Given the description of an element on the screen output the (x, y) to click on. 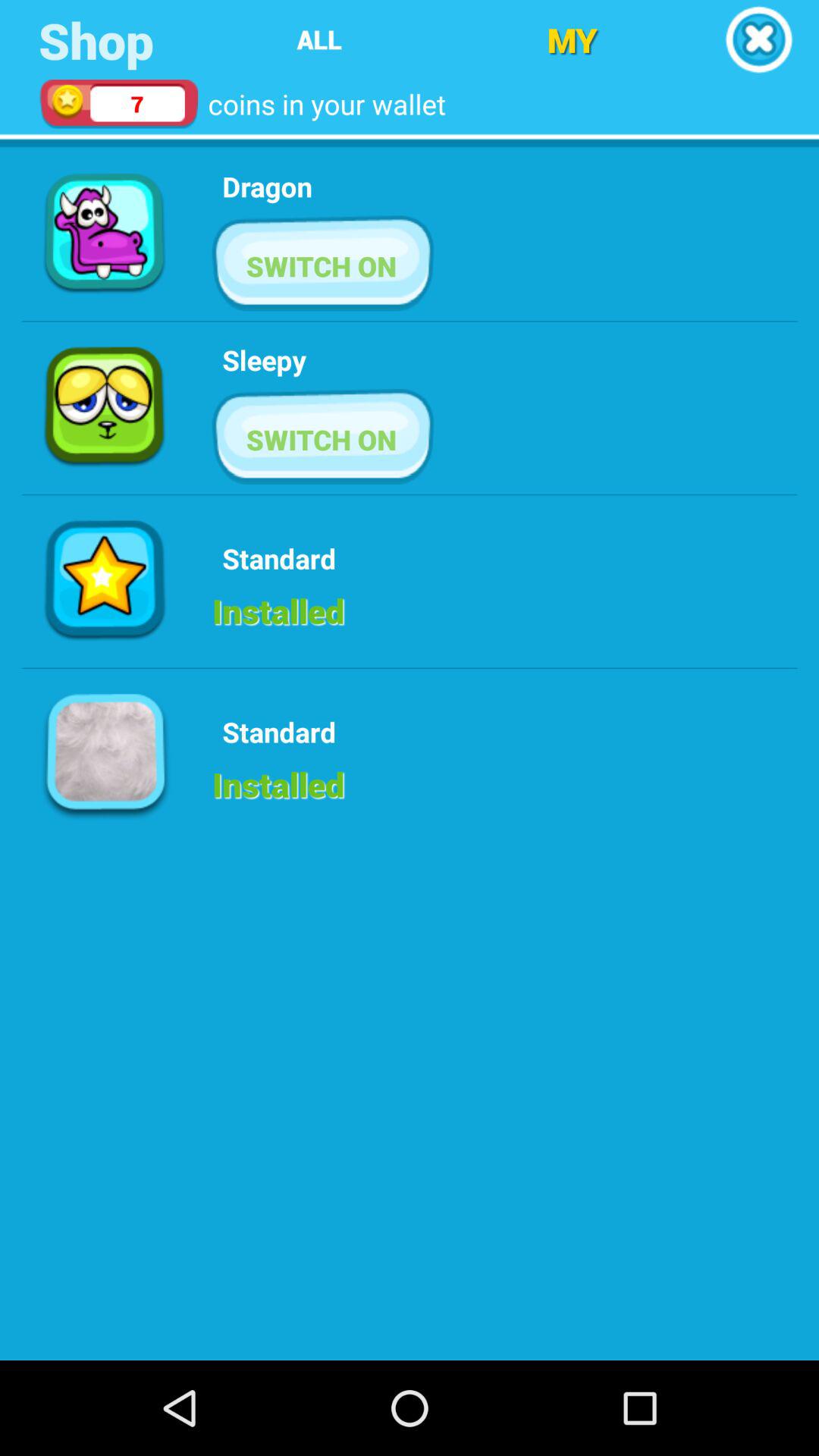
select the item to the right of the my icon (758, 39)
